Given the description of an element on the screen output the (x, y) to click on. 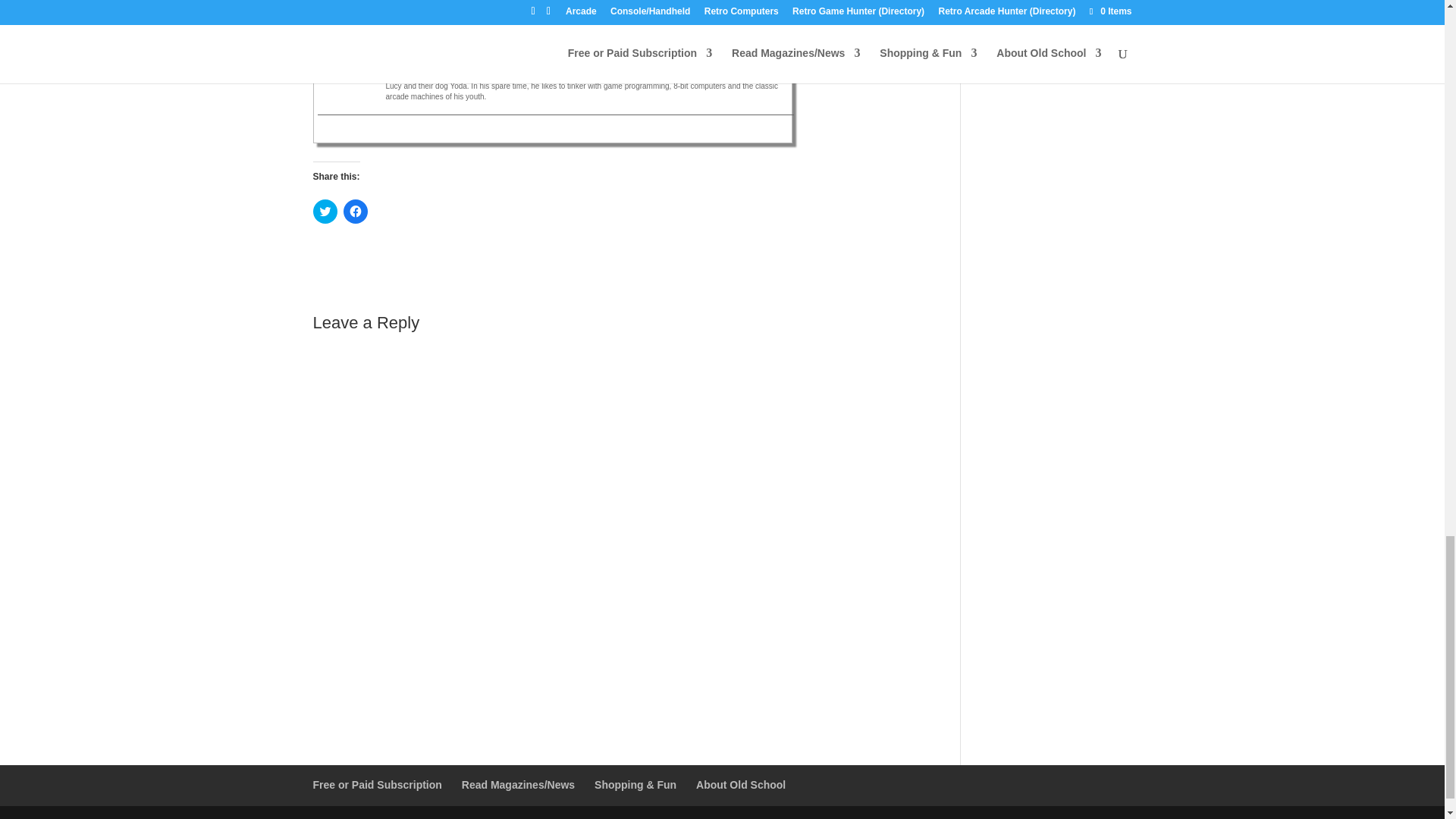
Click to share on Twitter (324, 211)
Click to share on Facebook (354, 211)
